Given the description of an element on the screen output the (x, y) to click on. 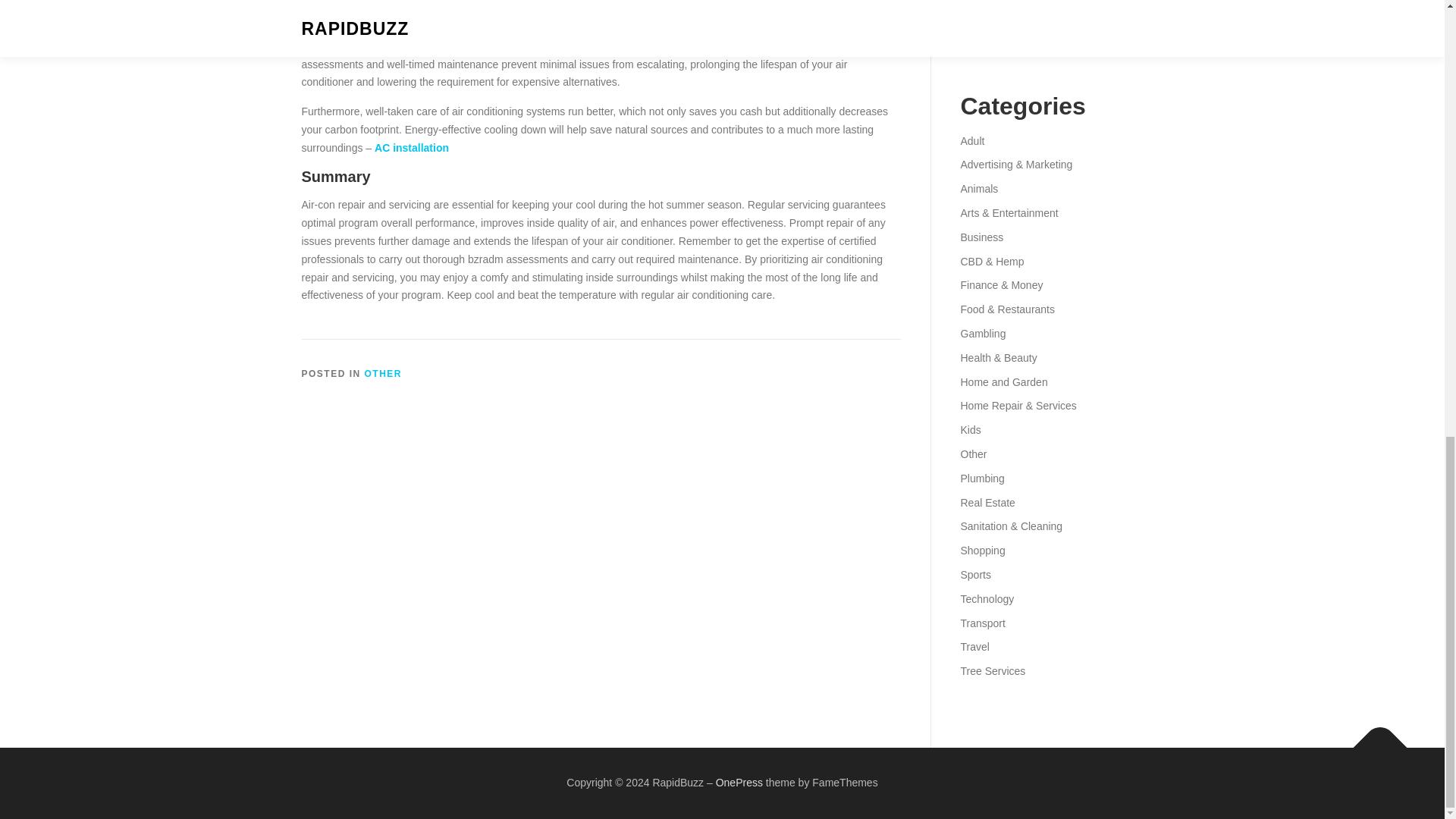
Adult (971, 141)
May 2023 (982, 21)
OTHER (384, 373)
Animals (978, 188)
Business (981, 236)
AC installation (411, 147)
April 2023 (983, 45)
Back To Top (1372, 740)
June 2023 (984, 2)
